Given the description of an element on the screen output the (x, y) to click on. 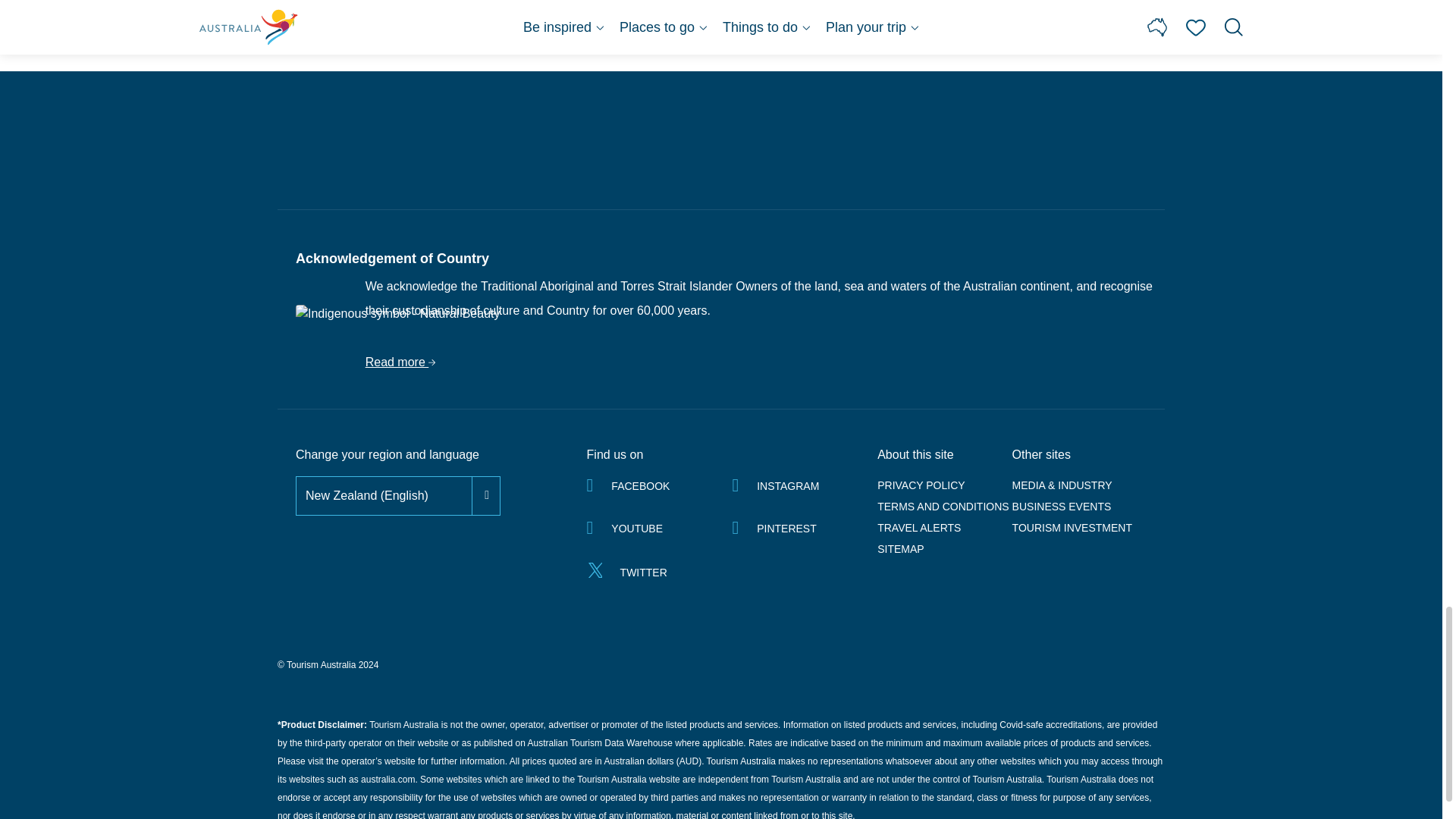
on (297, 479)
